Given the description of an element on the screen output the (x, y) to click on. 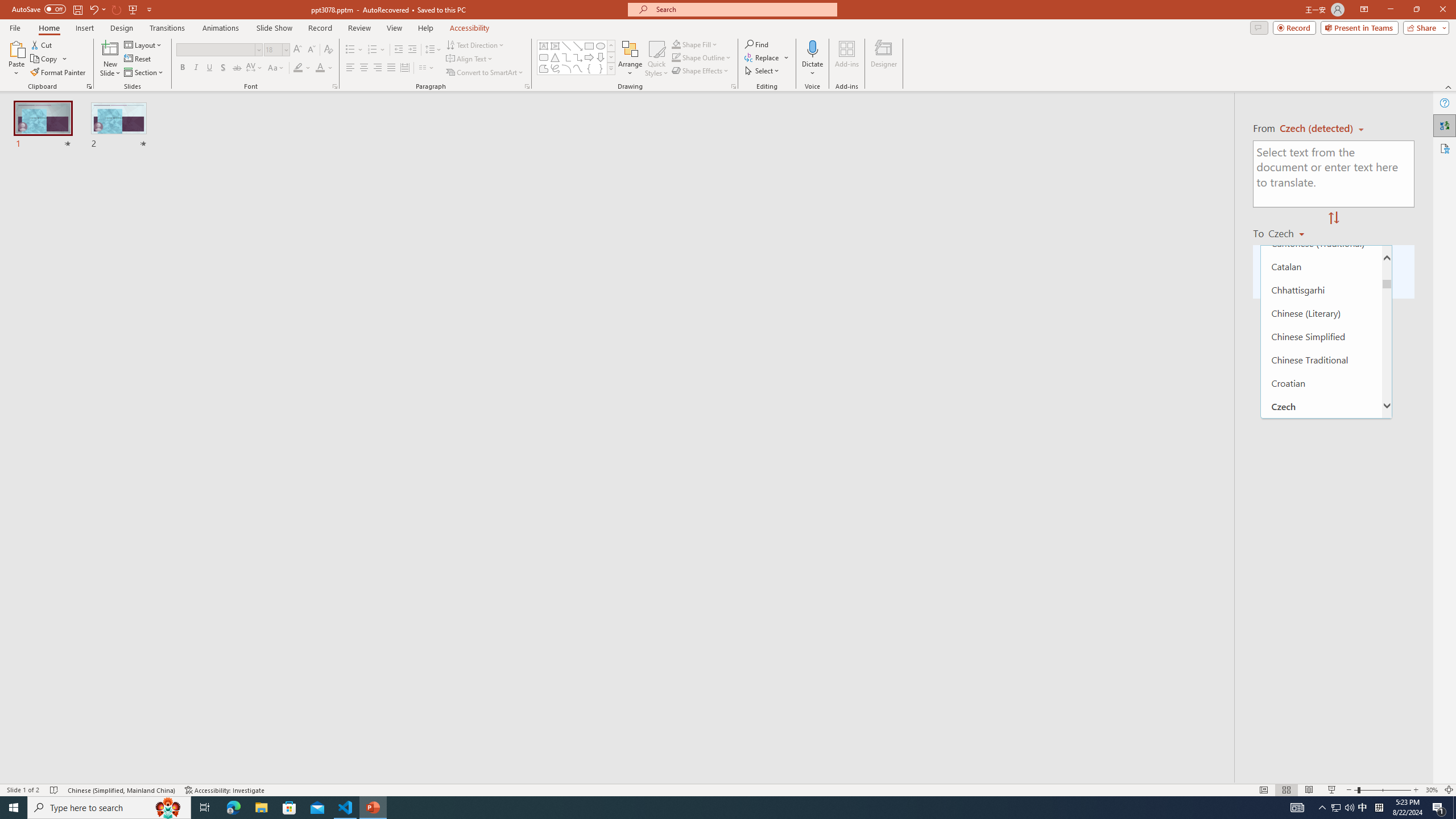
Croatian (1320, 382)
Estonian (1320, 568)
Czech (detected) (1317, 128)
